Given the description of an element on the screen output the (x, y) to click on. 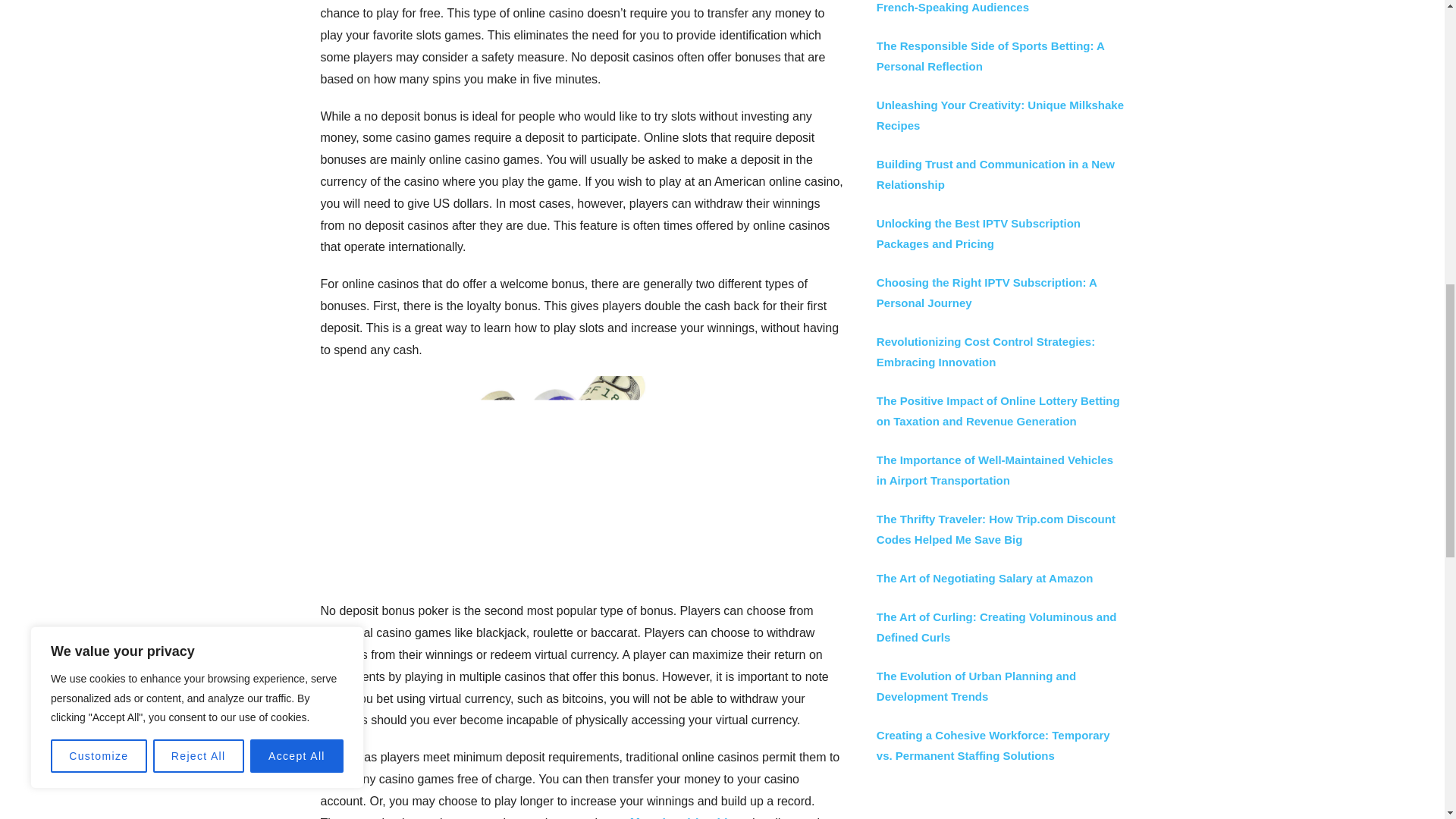
More inspiring ideas (689, 817)
